Given the description of an element on the screen output the (x, y) to click on. 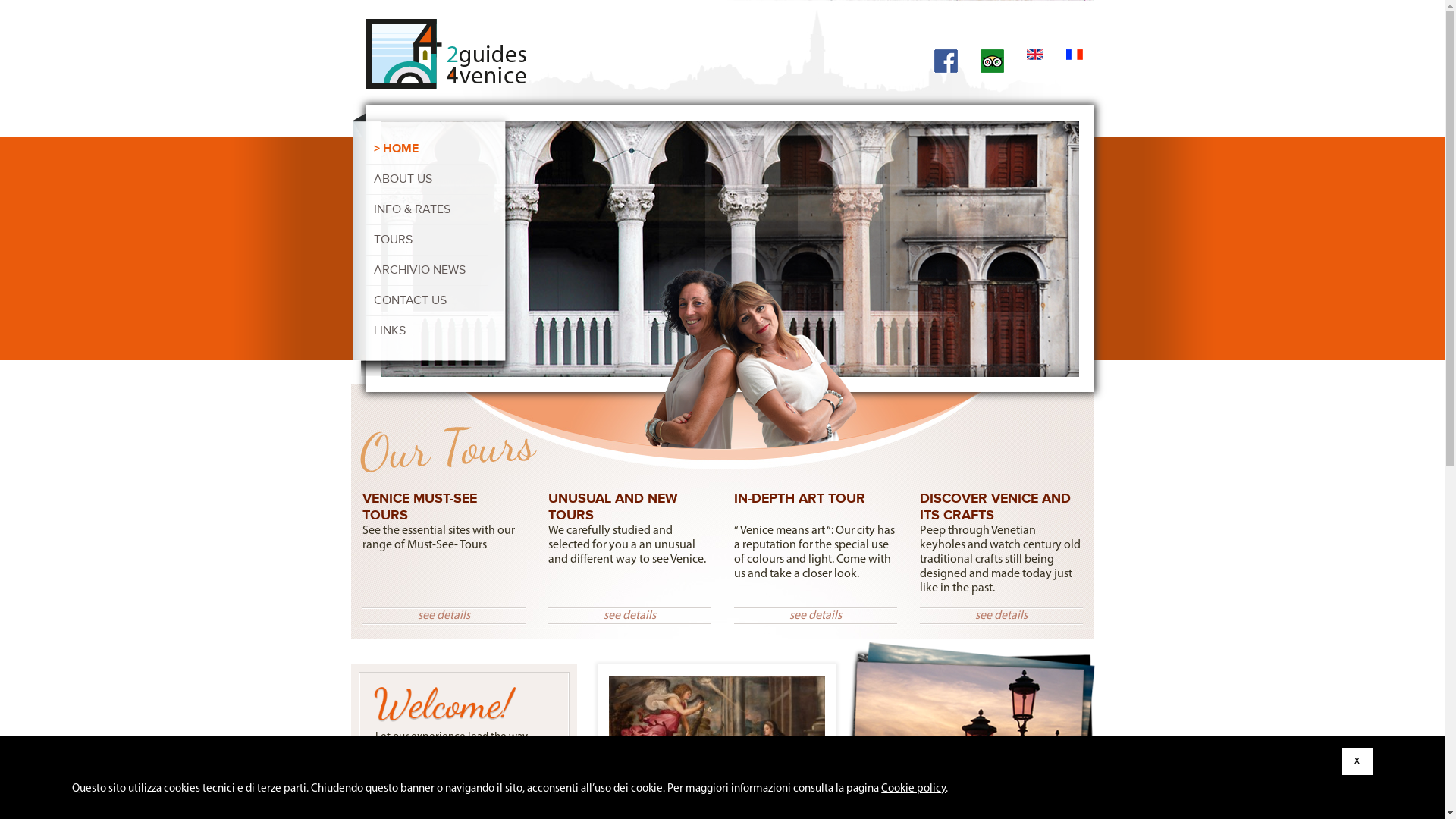
ABOUT US Element type: text (402, 179)
LINKS Element type: text (388, 330)
x Element type: text (1357, 761)
CONTACT US Element type: text (409, 300)
ARCHIVIO NEWS Element type: text (418, 270)
TOURS Element type: text (392, 239)
INFO & RATES Element type: text (411, 209)
Cookie policy Element type: text (913, 788)
HOME Element type: text (395, 148)
